Given the description of an element on the screen output the (x, y) to click on. 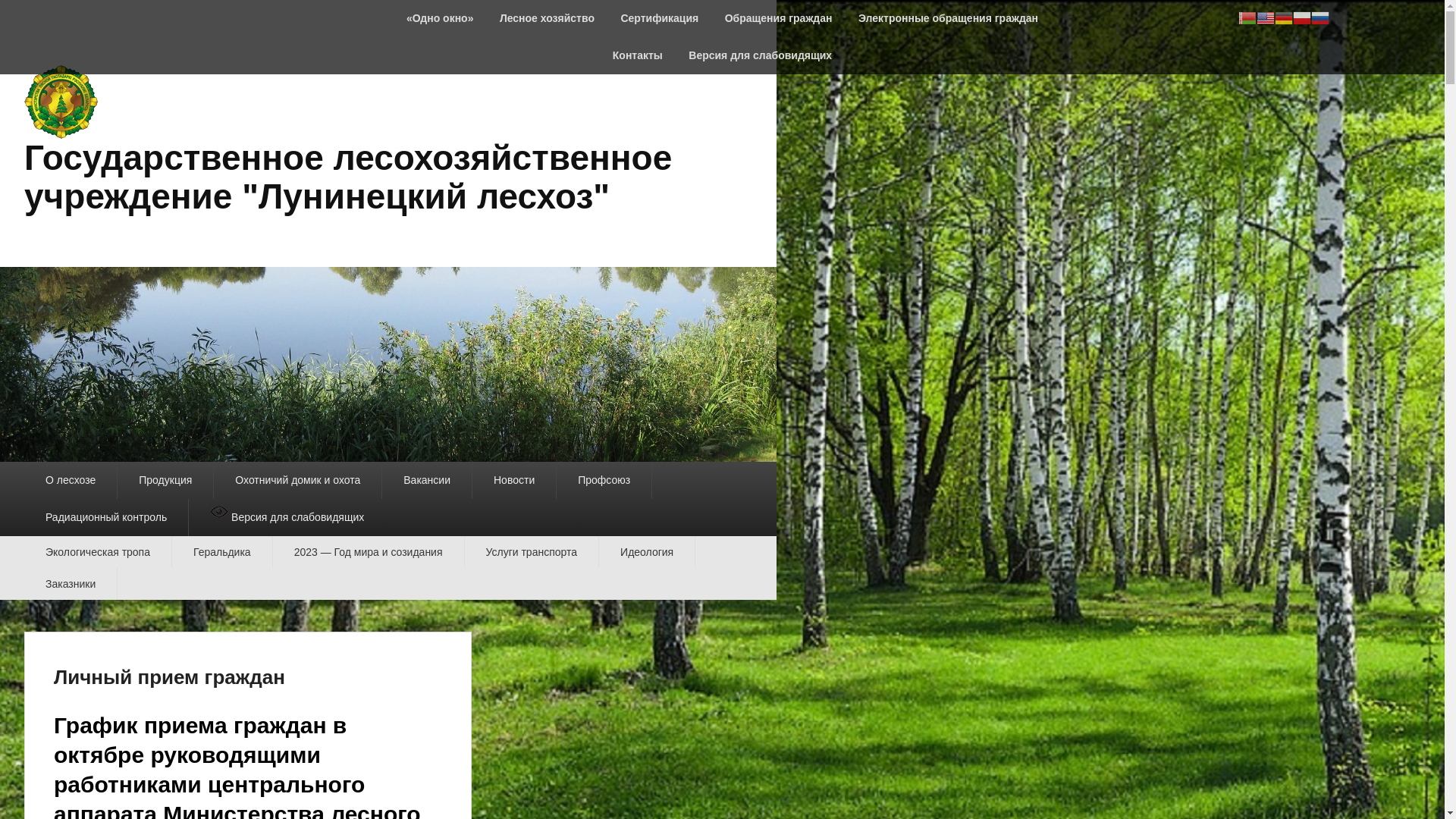
German Element type: hover (1283, 16)
Russian Element type: hover (1320, 16)
Polish Element type: hover (1301, 16)
English Element type: hover (1265, 16)
Belarusian Element type: hover (1247, 16)
